Given the description of an element on the screen output the (x, y) to click on. 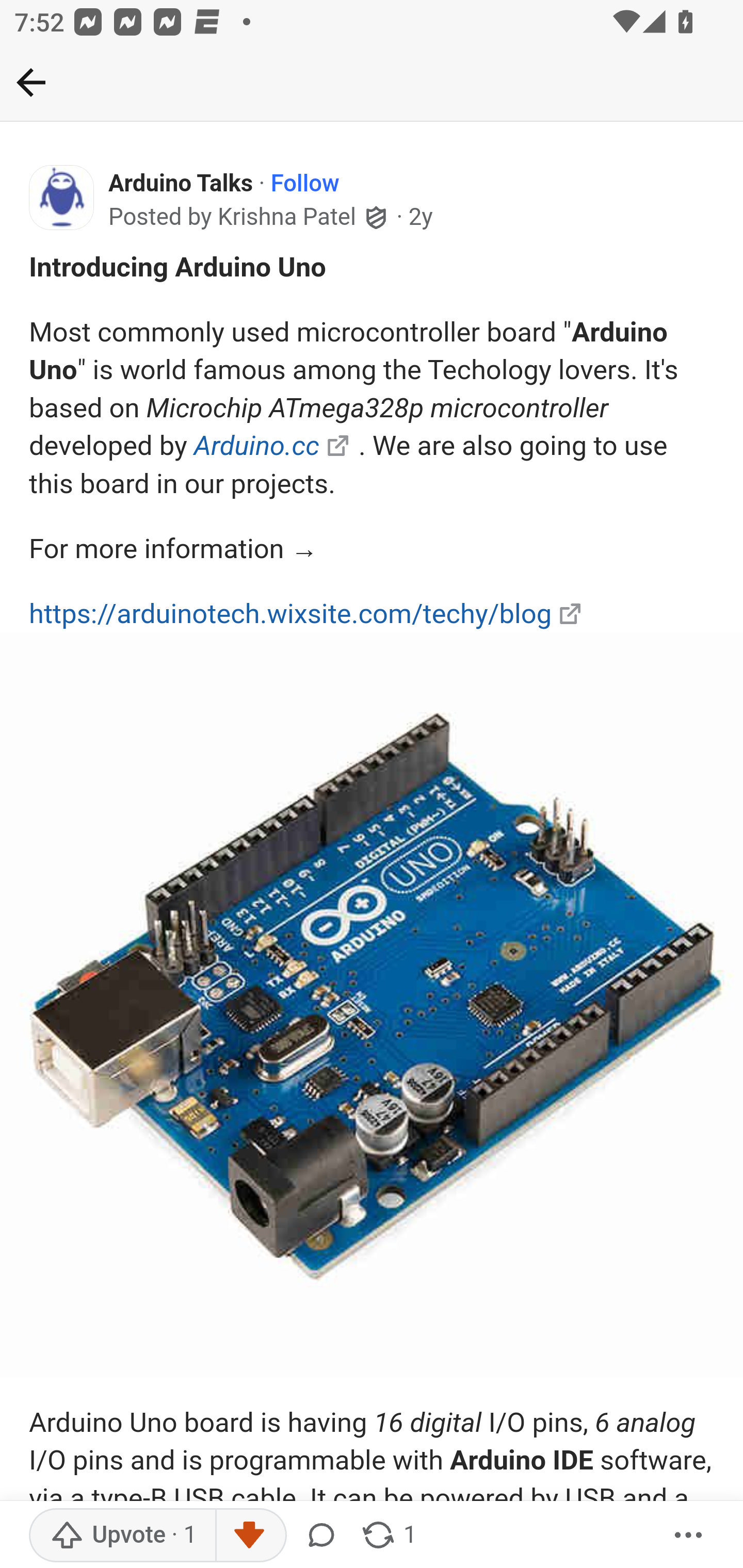
Back (371, 82)
Back (30, 82)
Icon for Arduino Talks (61, 198)
Arduino Talks (181, 183)
Follow (304, 183)
Krishna Patel (286, 217)
2y 2 y (420, 217)
Arduino.cc (256, 445)
https://arduinotech.wixsite.com/techy/blog (290, 612)
Upvote (122, 1535)
Downvote (249, 1535)
Comment (324, 1535)
1 share (387, 1535)
More (688, 1535)
